Given the description of an element on the screen output the (x, y) to click on. 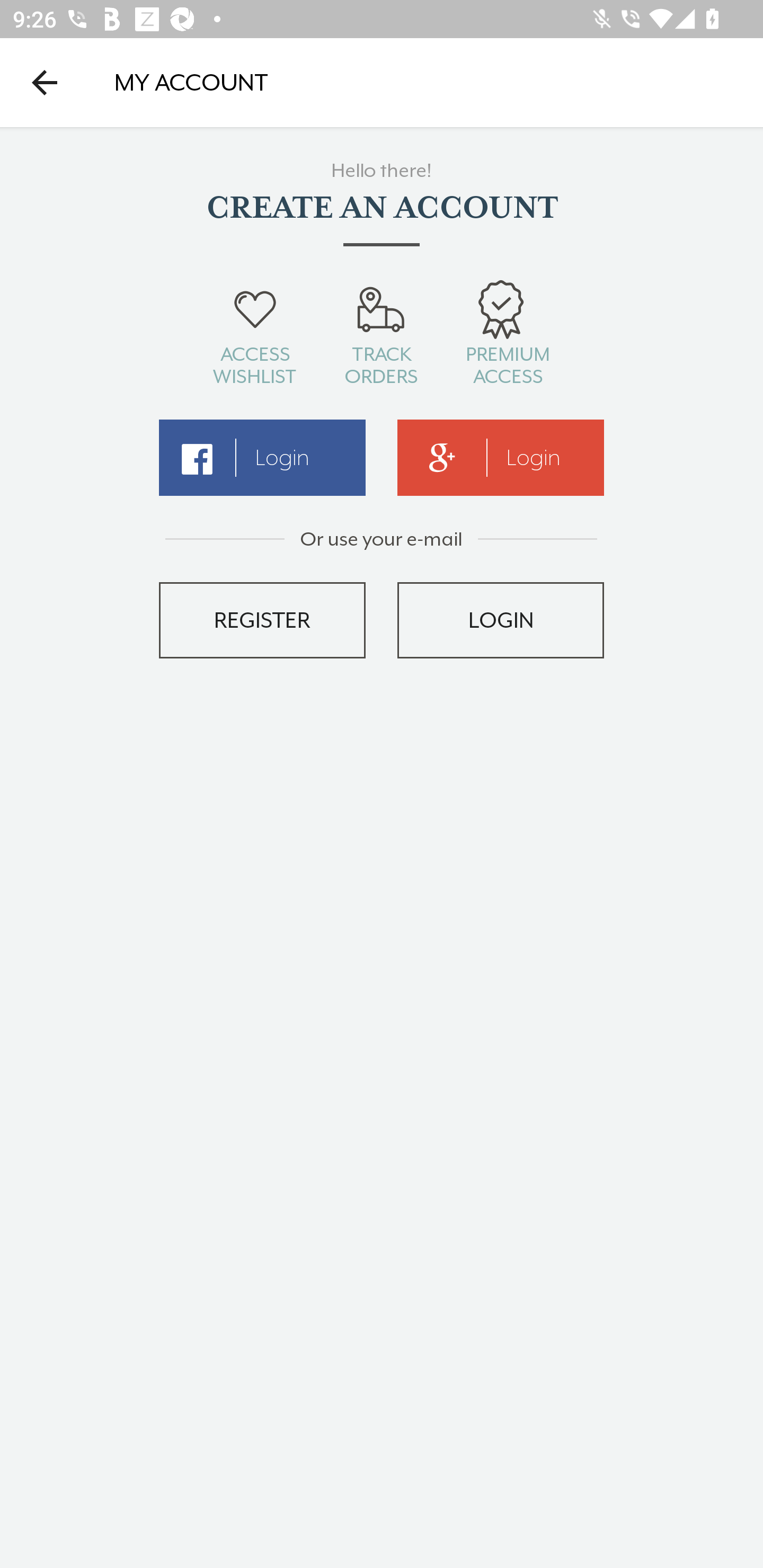
Navigate up (44, 82)
 Login (261, 457)
Login (500, 457)
REGISTER (261, 619)
LOGIN (500, 619)
